Given the description of an element on the screen output the (x, y) to click on. 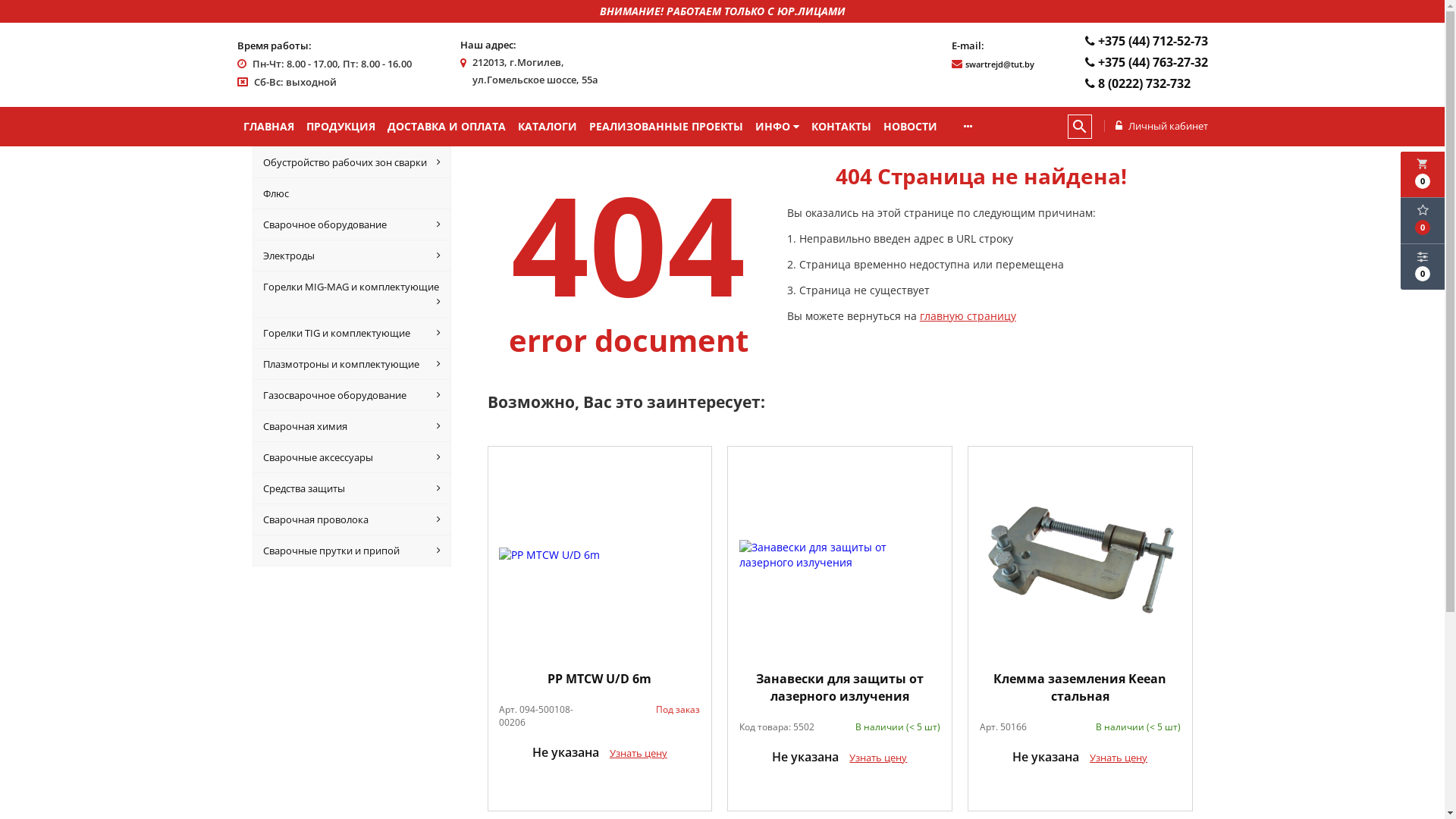
8 (0222) 732-732 Element type: text (1135, 83)
+375 (44) 712-52-73 Element type: text (1144, 40)
+375 (44) 763-27-32 Element type: text (1144, 62)
0 Element type: text (1422, 266)
PP MTCW U/D 6m Element type: text (600, 678)
search Element type: text (1079, 126)
swartrejd@tut.by Element type: text (998, 63)
local_grocery_store
0 Element type: text (1422, 174)
0 Element type: text (1422, 220)
